Given the description of an element on the screen output the (x, y) to click on. 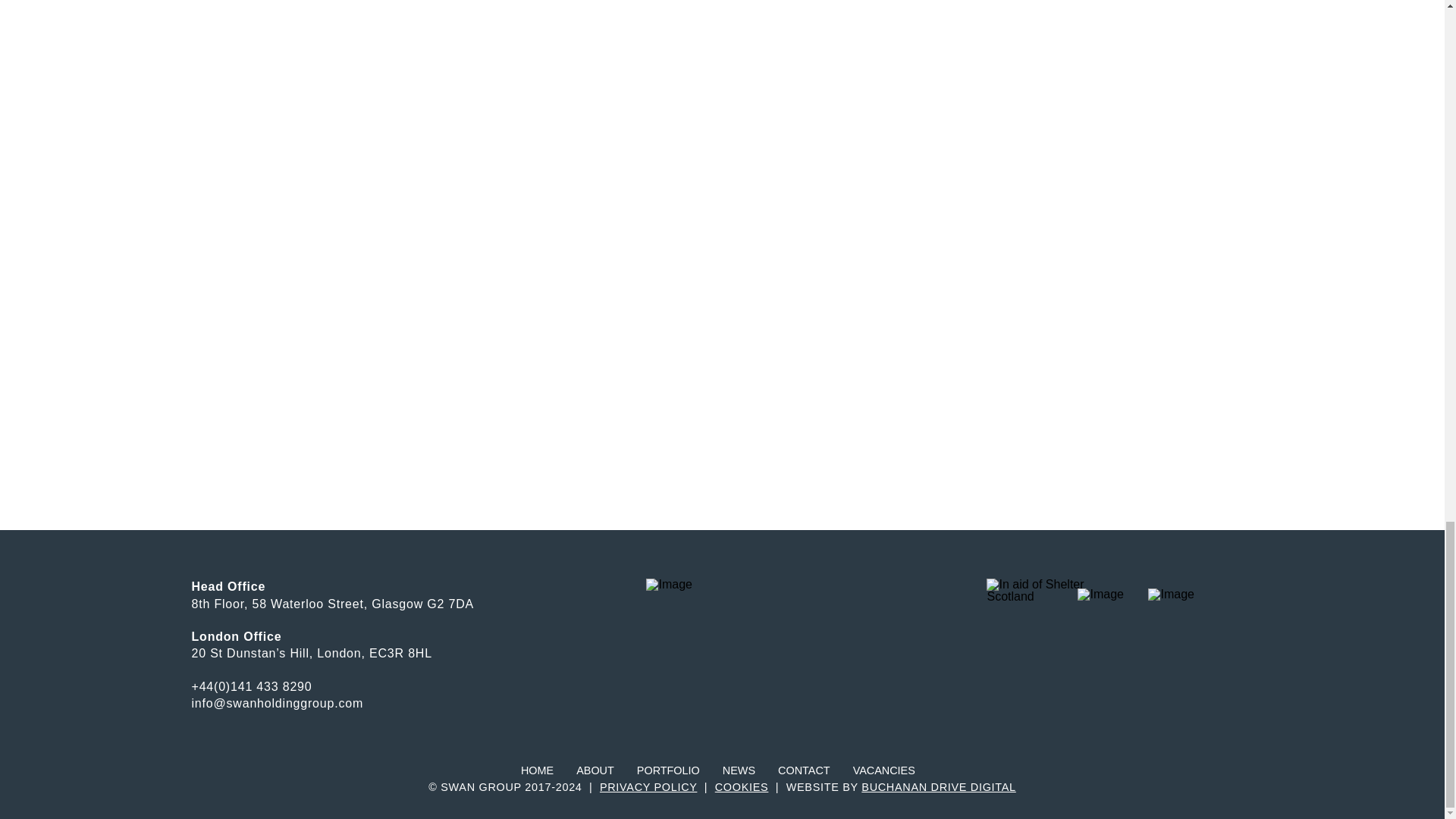
VACANCIES (883, 770)
Newhall Street, Glasgow, G40 1LA (536, 76)
HOME (536, 770)
BUCHANAN DRIVE DIGITAL (937, 787)
ABOUT (594, 770)
COOKIES (741, 787)
CONTACT (803, 770)
PRIVACY POLICY (648, 787)
PORTFOLIO (668, 770)
NEWS (738, 770)
